Given the description of an element on the screen output the (x, y) to click on. 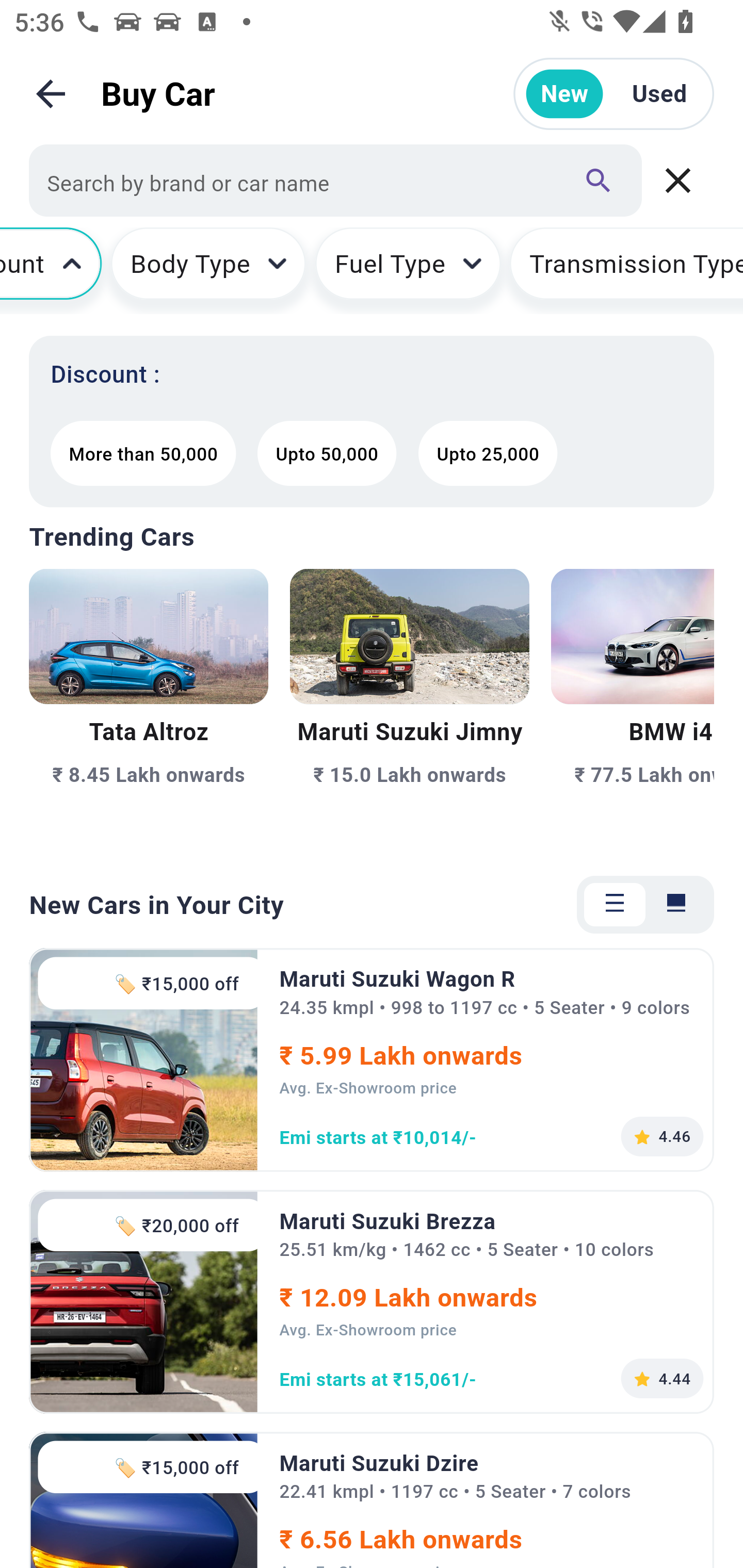
Back (50, 93)
New (564, 93)
Used (659, 93)
Body Type (208, 270)
Fuel Type (407, 270)
Transmission Type (626, 270)
More than 50,000 (142, 453)
Upto 50,000 (326, 453)
Upto 25,000 (487, 453)
₹ 8.45 Lakh onwards Tata Altroz (148, 709)
₹ 15.0 Lakh onwards Maruti Suzuki Jimny (409, 709)
₹ 77.5 Lakh onwards BMW i4 (632, 709)
Tab 1 of 2 (614, 904)
Tab 2 of 2 (675, 904)
